Given the description of an element on the screen output the (x, y) to click on. 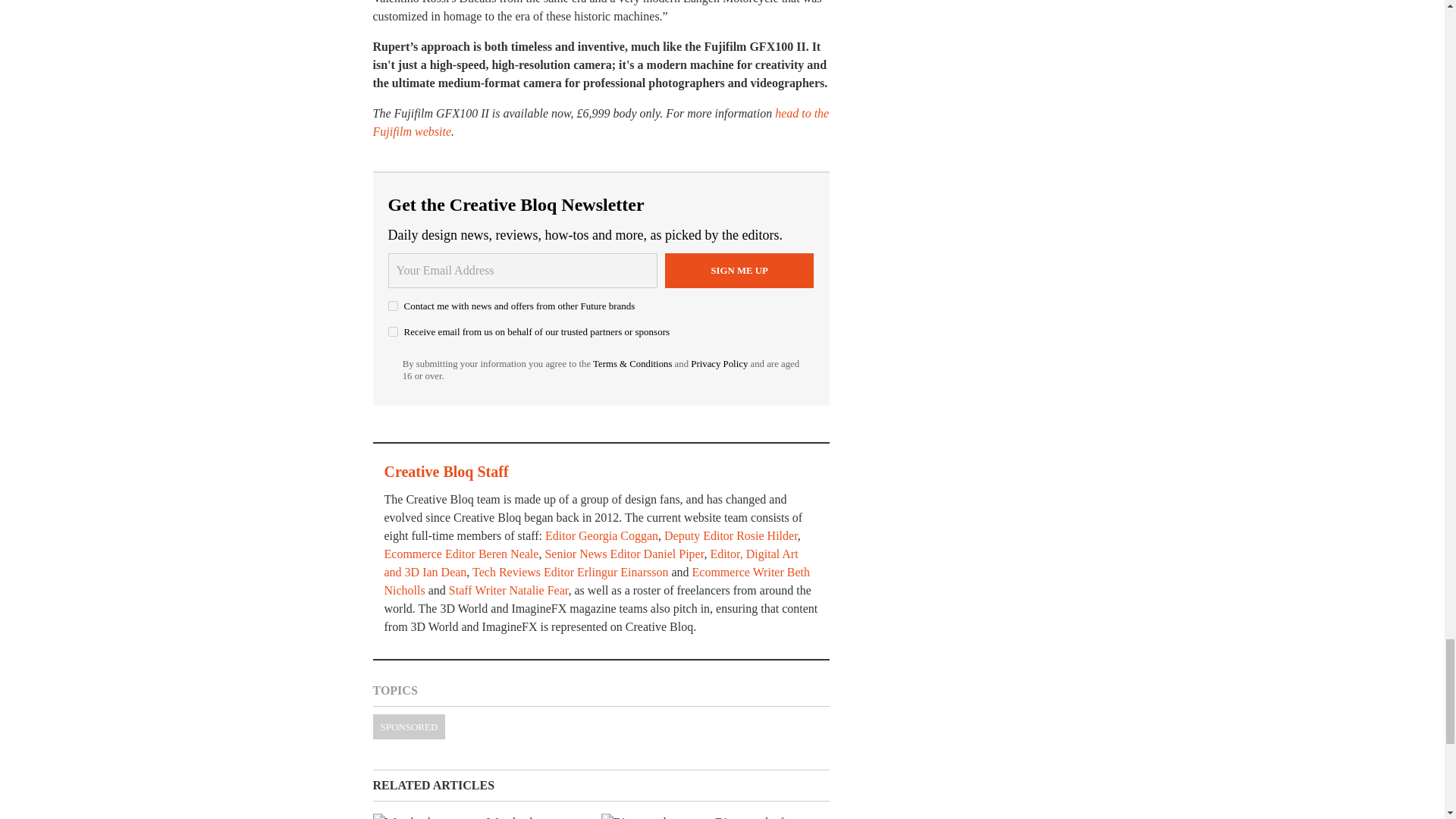
Sign me up (739, 270)
on (392, 306)
on (392, 331)
